Given the description of an element on the screen output the (x, y) to click on. 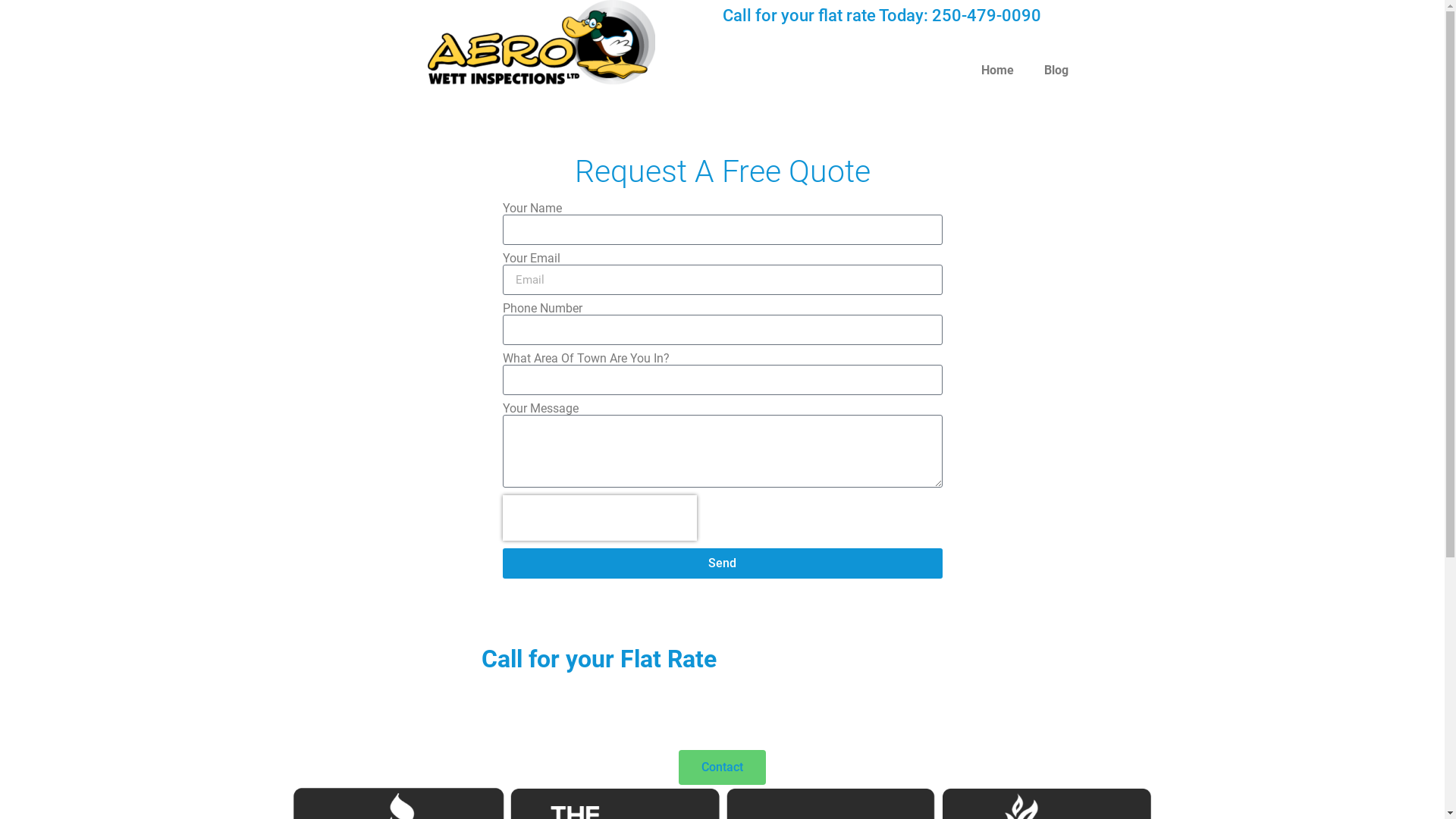
250-479-0090 Element type: text (640, 709)
Call for your flat rate Today: 250-479-0090 Element type: text (880, 15)
Contact Element type: text (721, 766)
Home Element type: text (997, 70)
reCAPTCHA Element type: hover (599, 517)
Blog Element type: text (1056, 70)
Send Element type: text (721, 563)
